Given the description of an element on the screen output the (x, y) to click on. 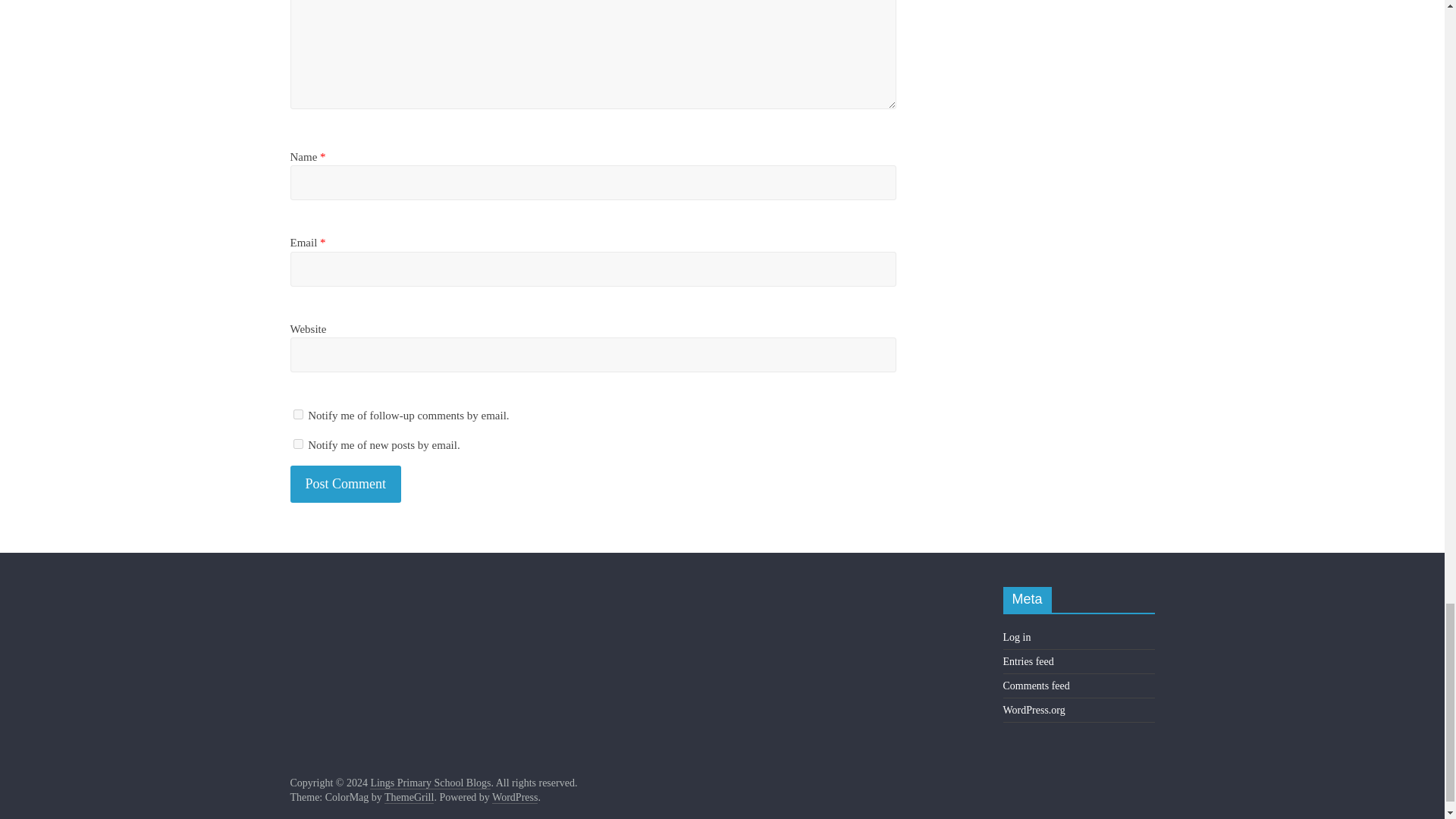
Post Comment (345, 484)
subscribe (297, 443)
Post Comment (345, 484)
Lings Primary School Blogs (429, 782)
subscribe (297, 414)
